Given the description of an element on the screen output the (x, y) to click on. 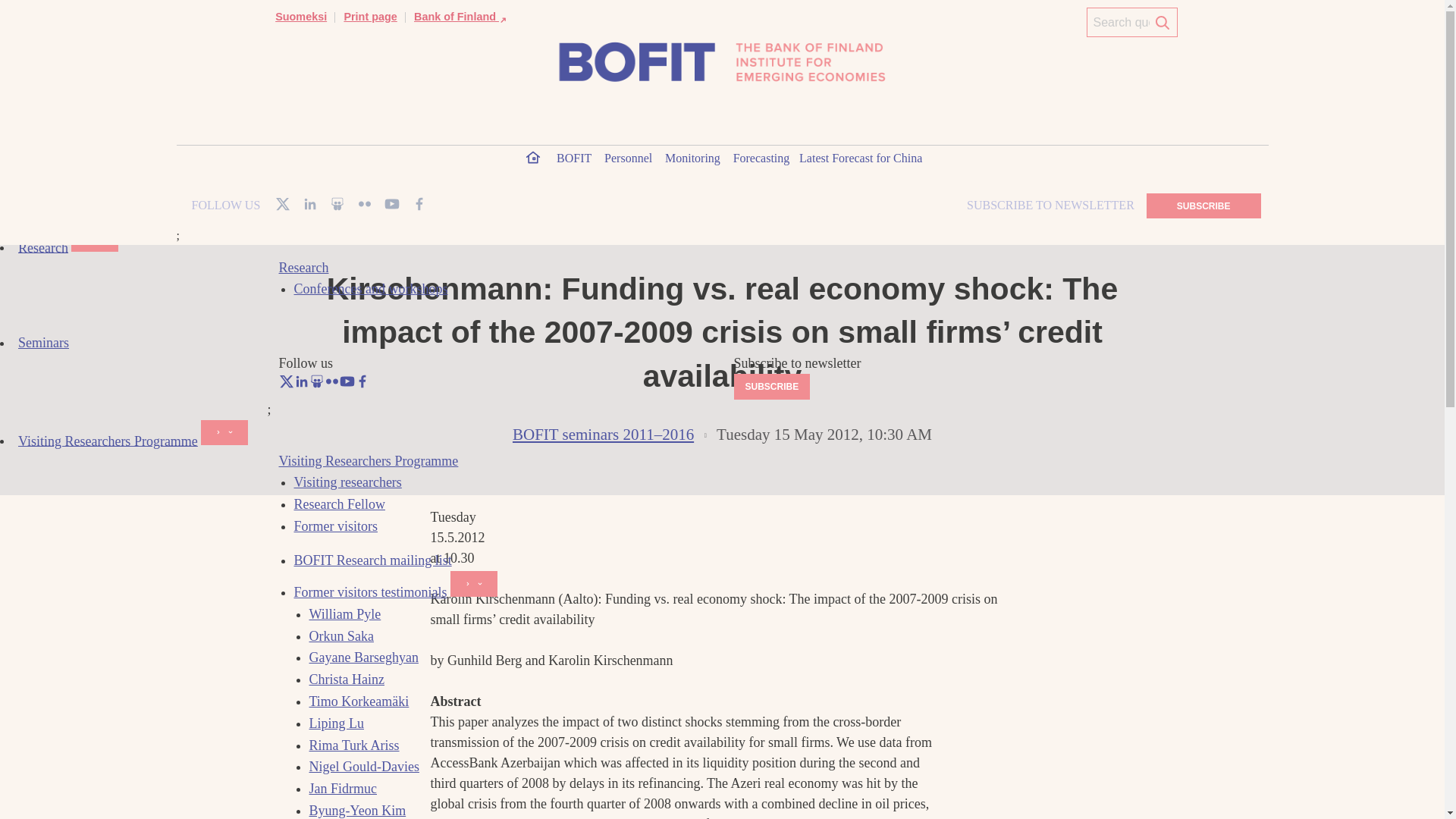
Go to section Research (365, 186)
Monitoring (693, 160)
BOFIT (573, 160)
Go to section Seminars (426, 186)
Personnel (628, 160)
Suomeksi (300, 16)
Bank of Finland (461, 16)
Print page (369, 16)
Return to frontpage (300, 186)
